Given the description of an element on the screen output the (x, y) to click on. 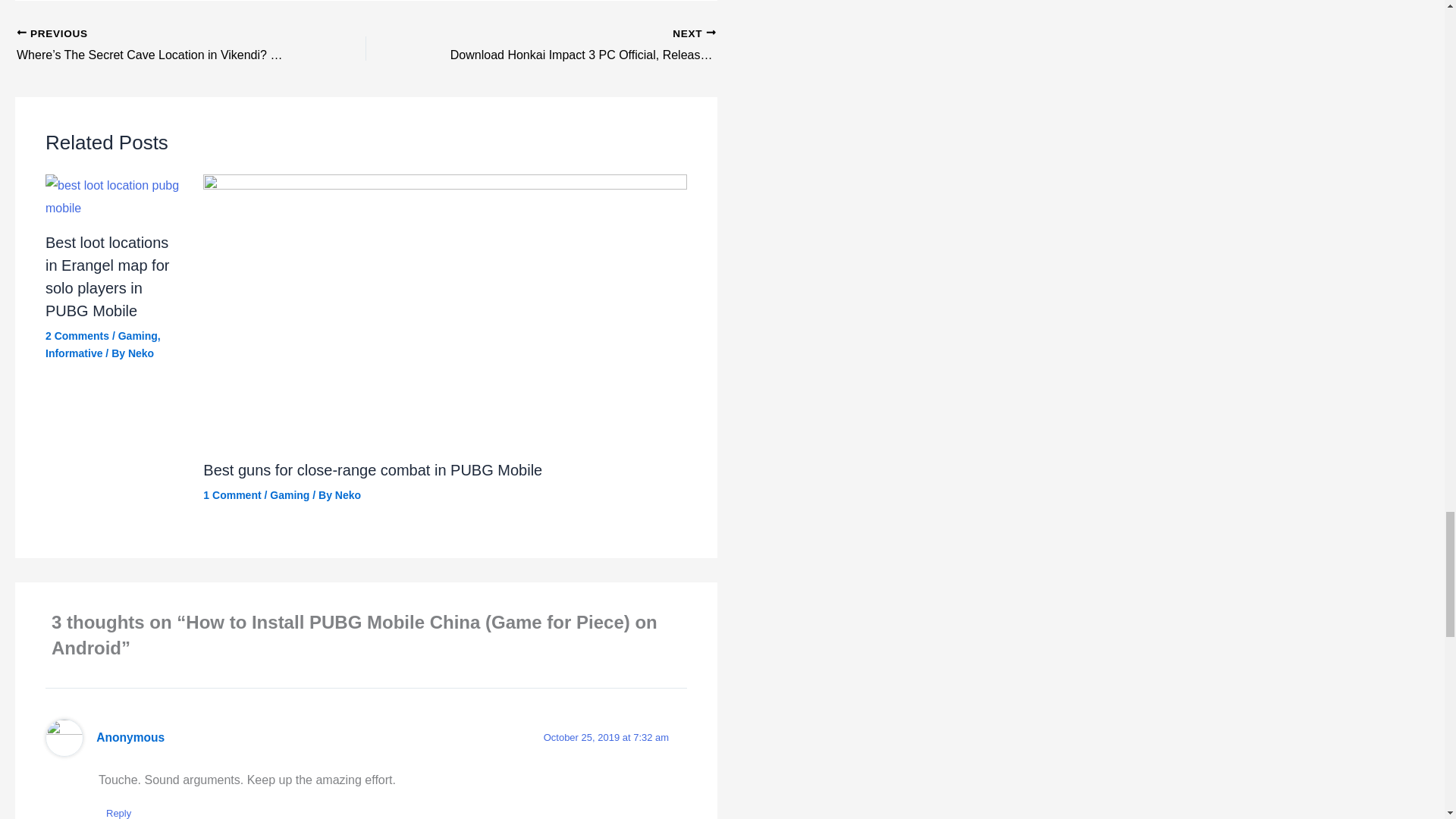
2 Comments (77, 336)
Where's The Secret Cave Location in Vikendi? PUBG (157, 46)
Neko (141, 353)
Gaming (137, 336)
Best guns for close-range combat in PUBG Mobile (372, 469)
1 Comment (231, 494)
View all posts by Neko (141, 353)
Informative (73, 353)
